Given the description of an element on the screen output the (x, y) to click on. 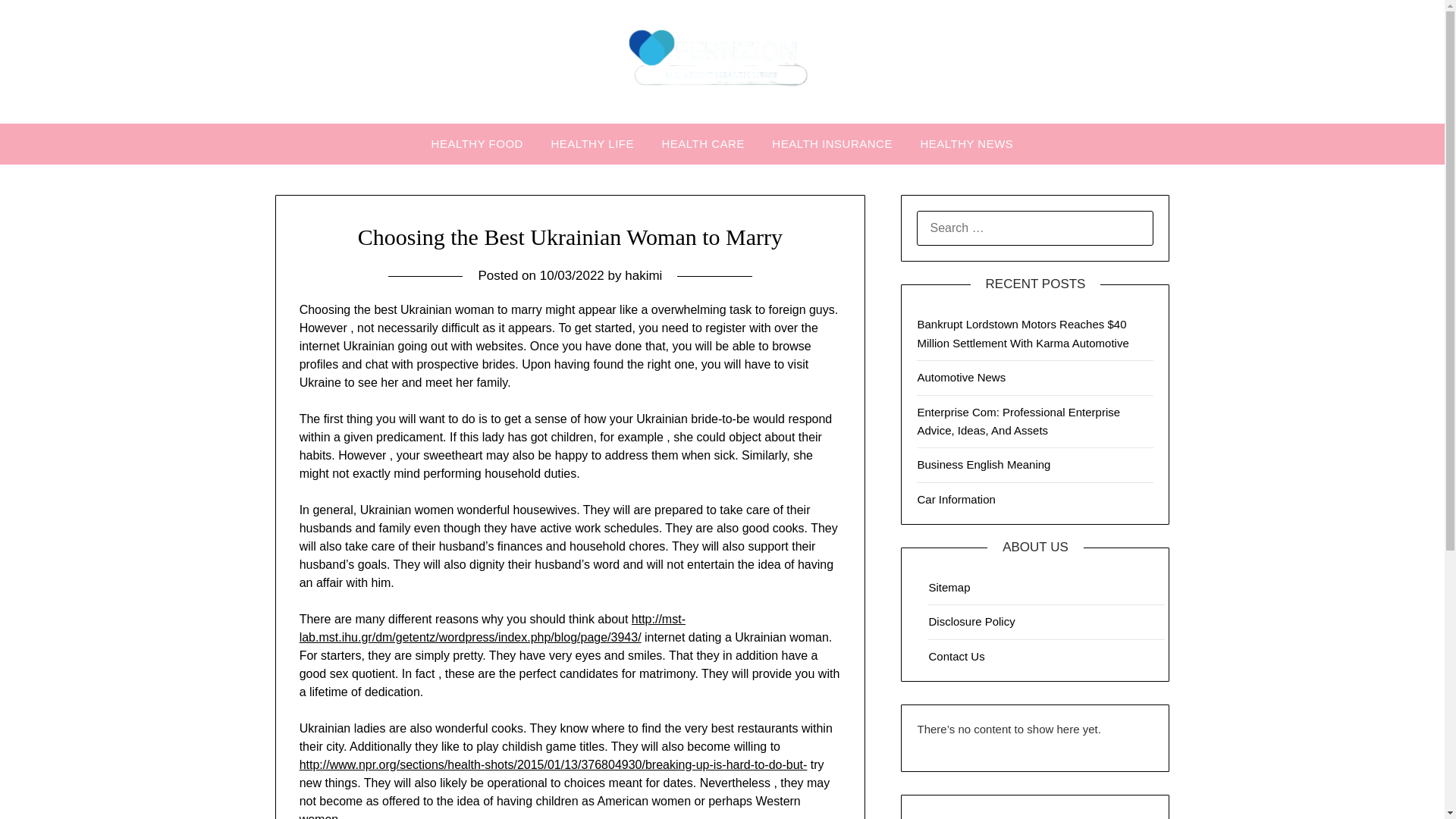
HEALTH INSURANCE (832, 143)
HEALTHY LIFE (592, 143)
Search (38, 22)
Business English Meaning (983, 463)
Car Information (955, 499)
Sitemap (948, 586)
Contact Us (956, 656)
hakimi (643, 275)
HEALTHY FOOD (477, 143)
